Given the description of an element on the screen output the (x, y) to click on. 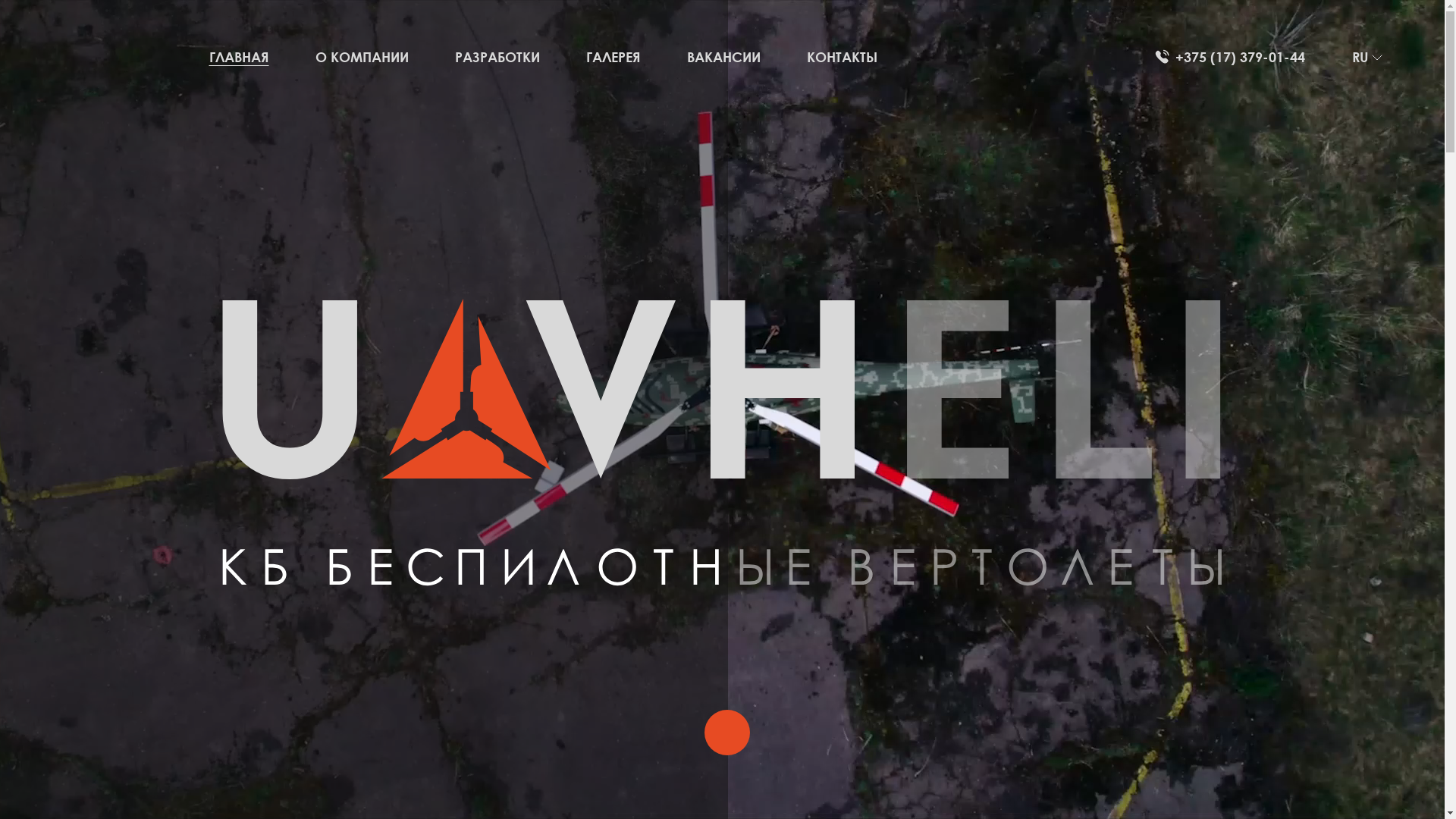
+375 (17) 379-01-44 Element type: text (1230, 57)
